Given the description of an element on the screen output the (x, y) to click on. 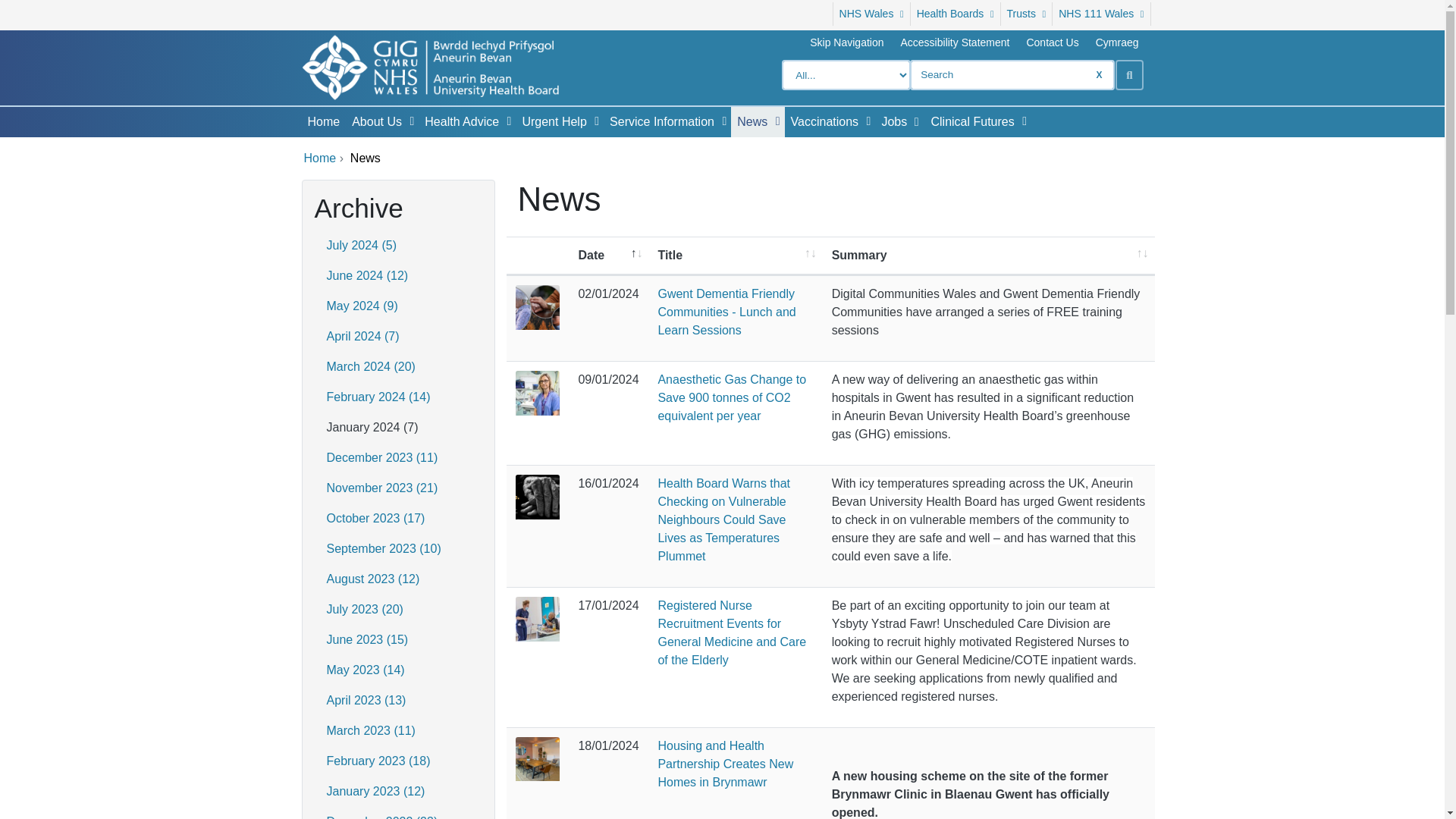
Accessibility Statement (955, 42)
About Us (373, 122)
NHS 111 Wales (1101, 13)
Cymraeg (1117, 42)
Search (1128, 74)
Home (323, 122)
NHS Wales (871, 13)
Health Advice (459, 122)
Contact Us (1051, 42)
Skip Navigation (846, 42)
Health Boards (955, 13)
Trusts (1026, 13)
Show Submenu For About Us (411, 120)
